Given the description of an element on the screen output the (x, y) to click on. 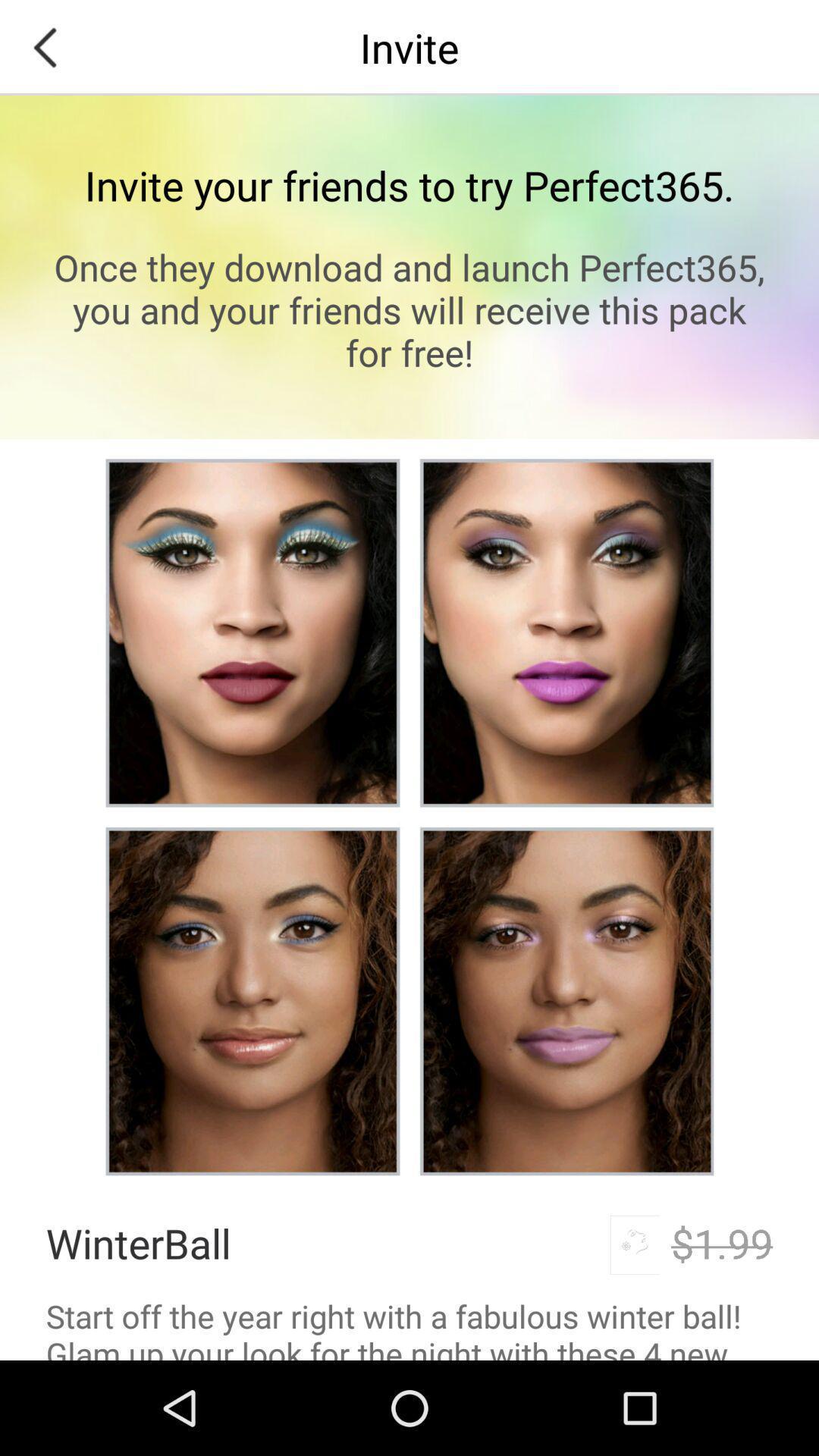
tap the start off the icon (409, 1327)
